Given the description of an element on the screen output the (x, y) to click on. 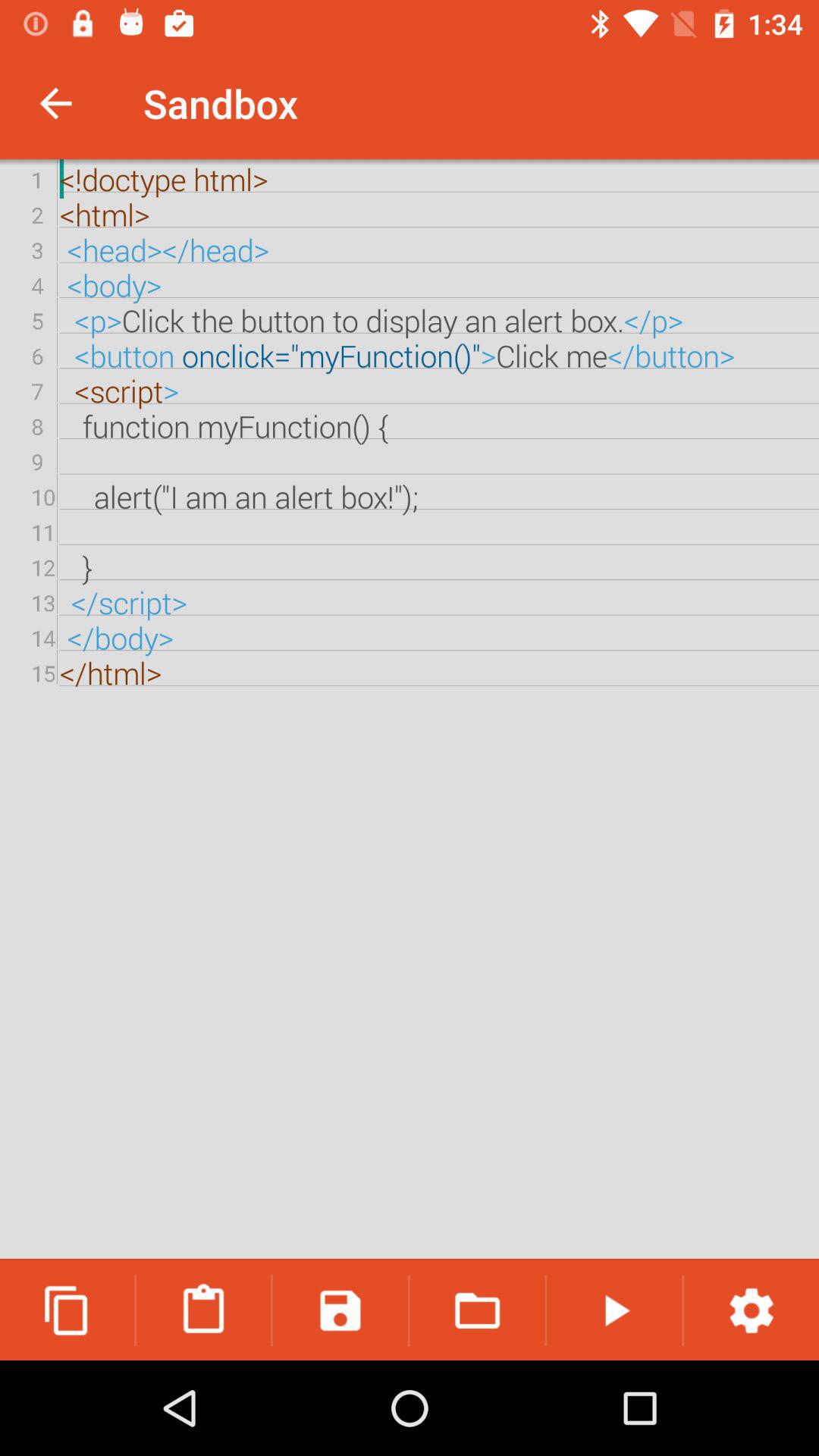
jump to the doctype html html (409, 709)
